Given the description of an element on the screen output the (x, y) to click on. 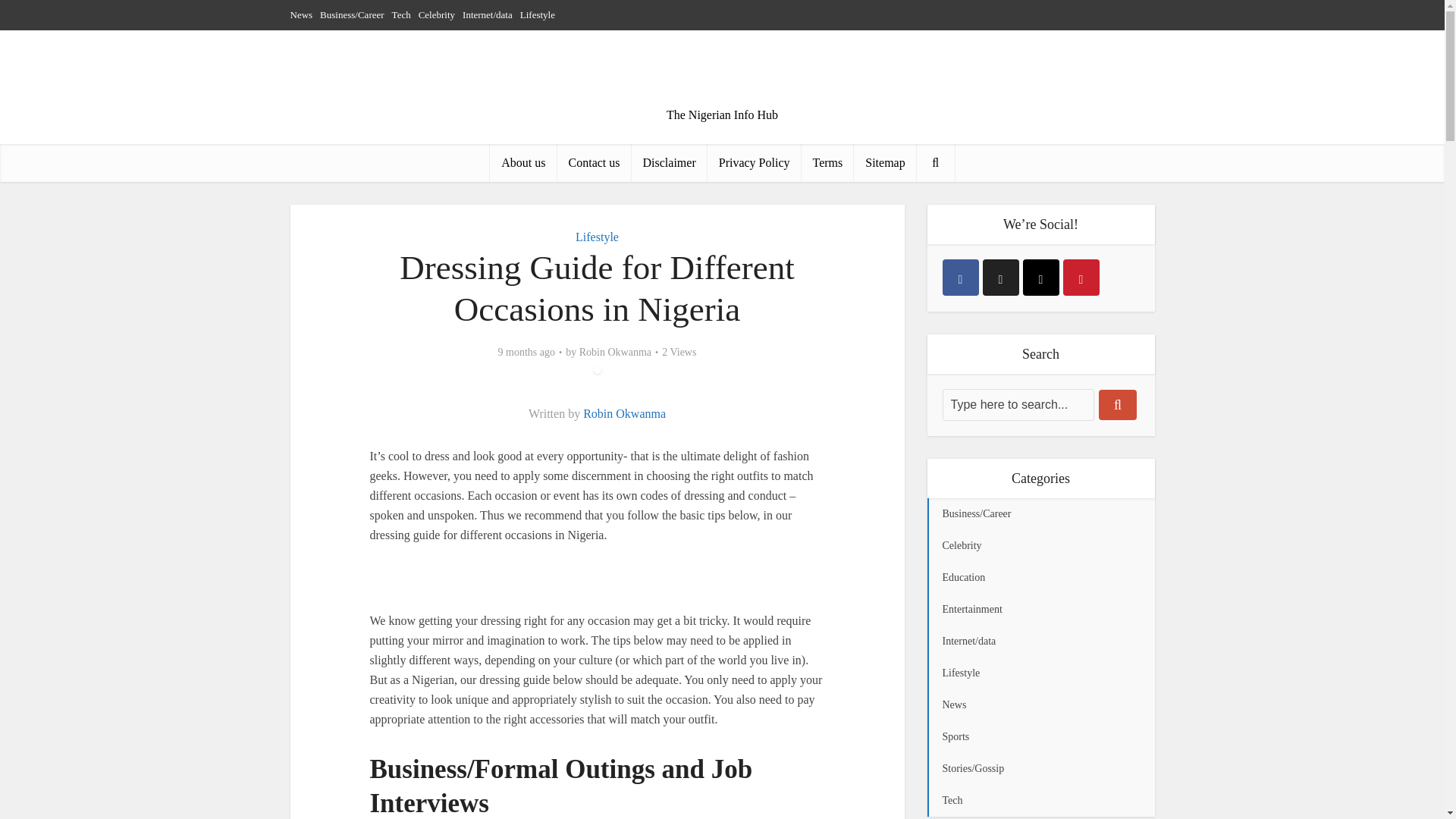
Tech (400, 14)
Facebook (960, 277)
Robin Okwanma (614, 352)
About us (522, 162)
News (301, 14)
Type here to search... (1017, 404)
Disclaimer (669, 162)
Privacy Policy (754, 162)
Terms (826, 162)
Celebrity (436, 14)
Quora (1080, 277)
Instagram (1040, 277)
Type here to search... (1017, 404)
Sitemap (884, 162)
Lifestyle (596, 236)
